Given the description of an element on the screen output the (x, y) to click on. 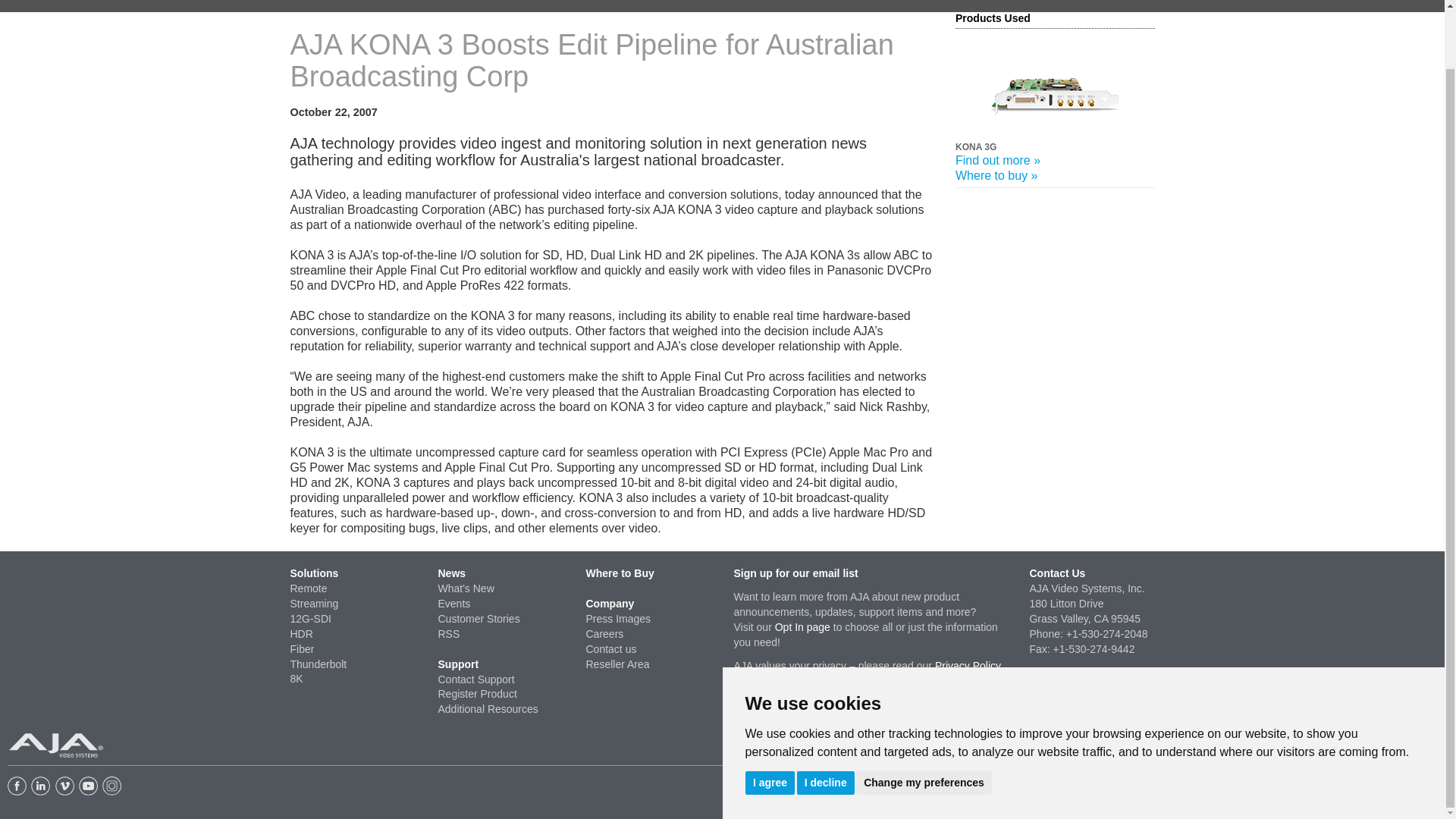
I decline (824, 718)
I agree (768, 718)
Change my preferences (923, 718)
